Given the description of an element on the screen output the (x, y) to click on. 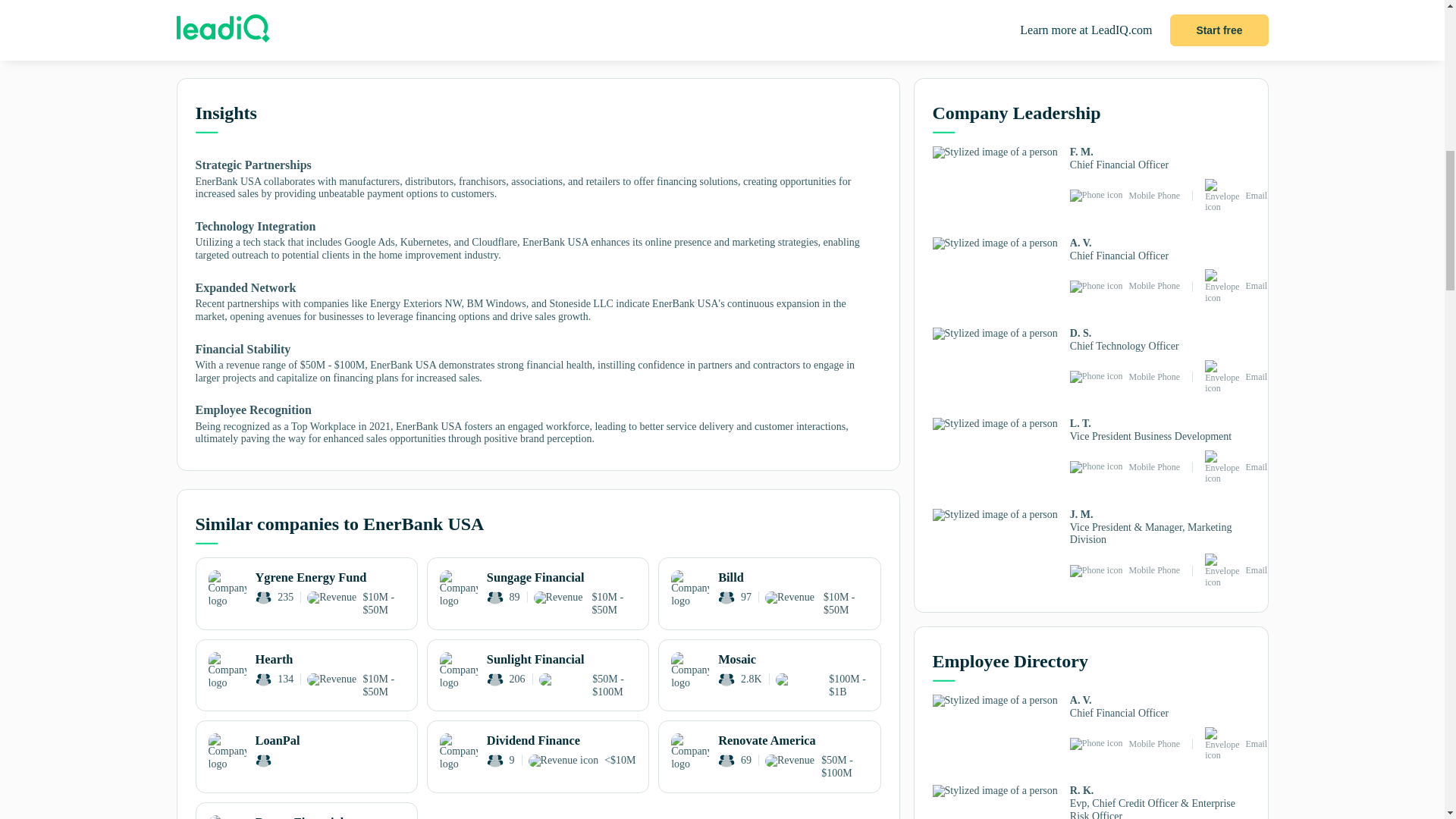
Email Format (718, 46)
Tech Stack (476, 46)
FAQ (838, 46)
Similar companies (357, 46)
LoanPal (306, 752)
Insights (236, 47)
